Given the description of an element on the screen output the (x, y) to click on. 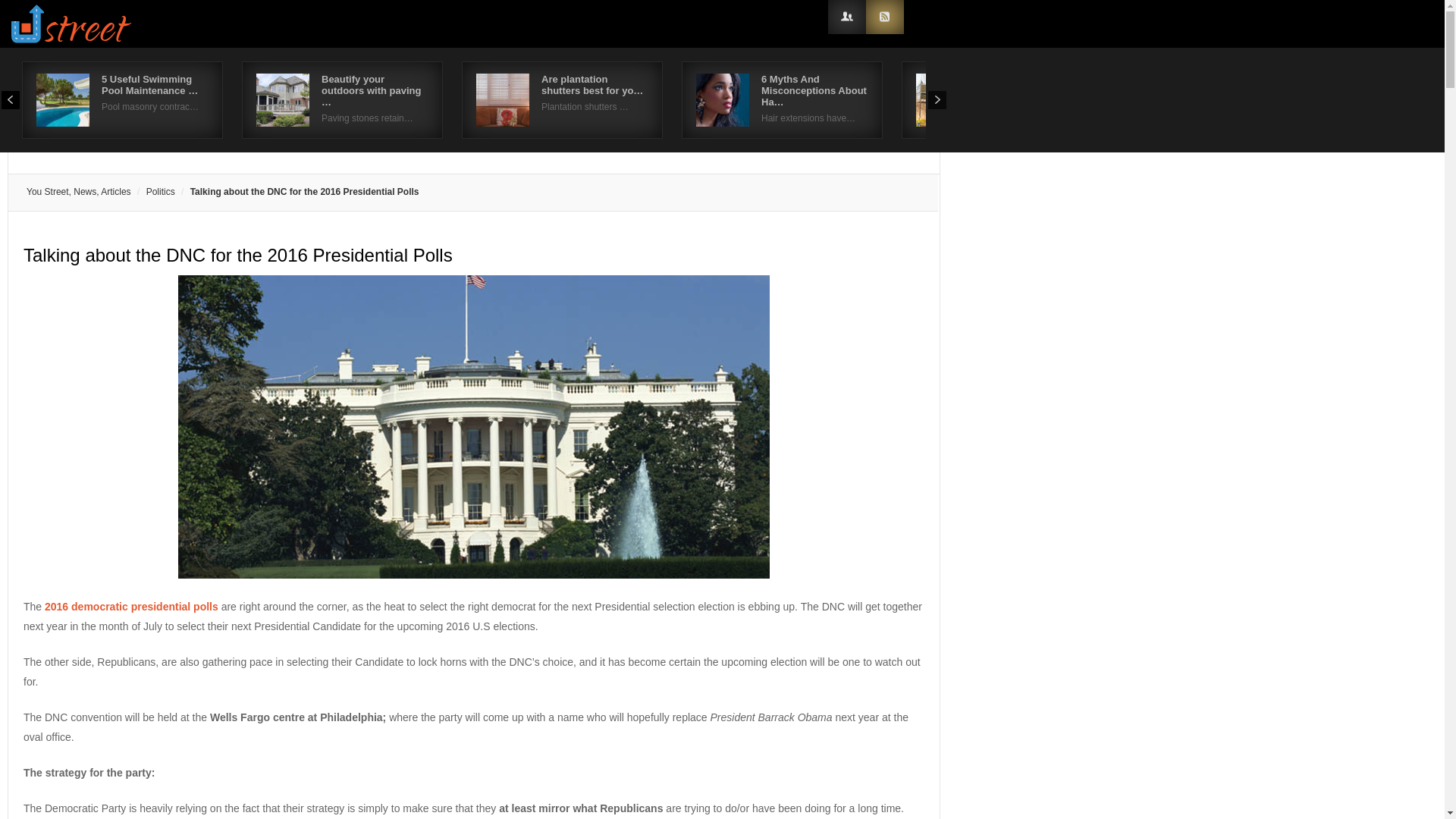
Are plantation shutters best for your window? (592, 84)
RSS (885, 17)
Login (847, 17)
5 Useful Swimming Pool Maintenance Tips (149, 84)
6 Myths And Misconceptions About Hair Extensions (813, 90)
